Given the description of an element on the screen output the (x, y) to click on. 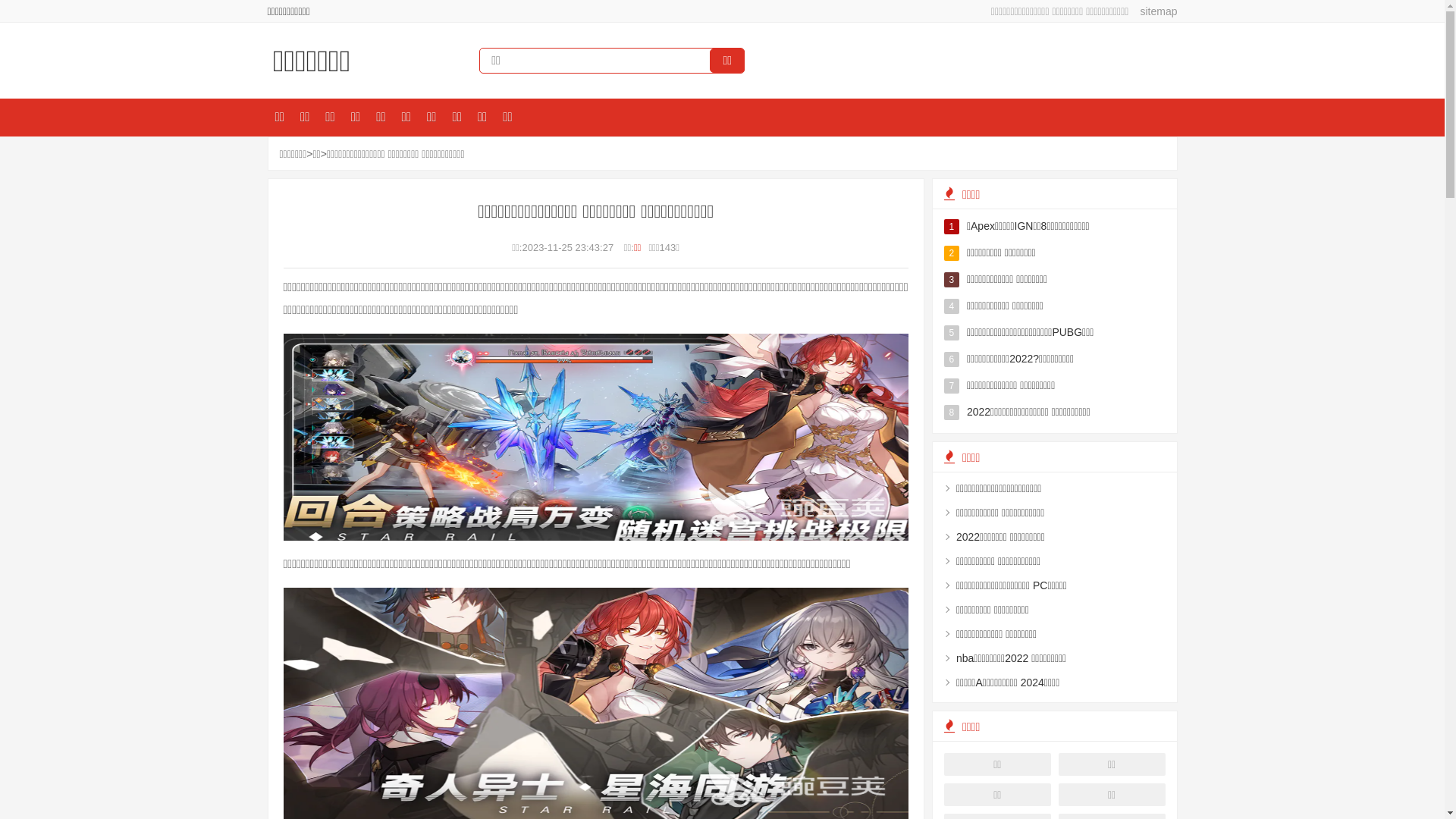
sitemap Element type: text (1152, 11)
